Given the description of an element on the screen output the (x, y) to click on. 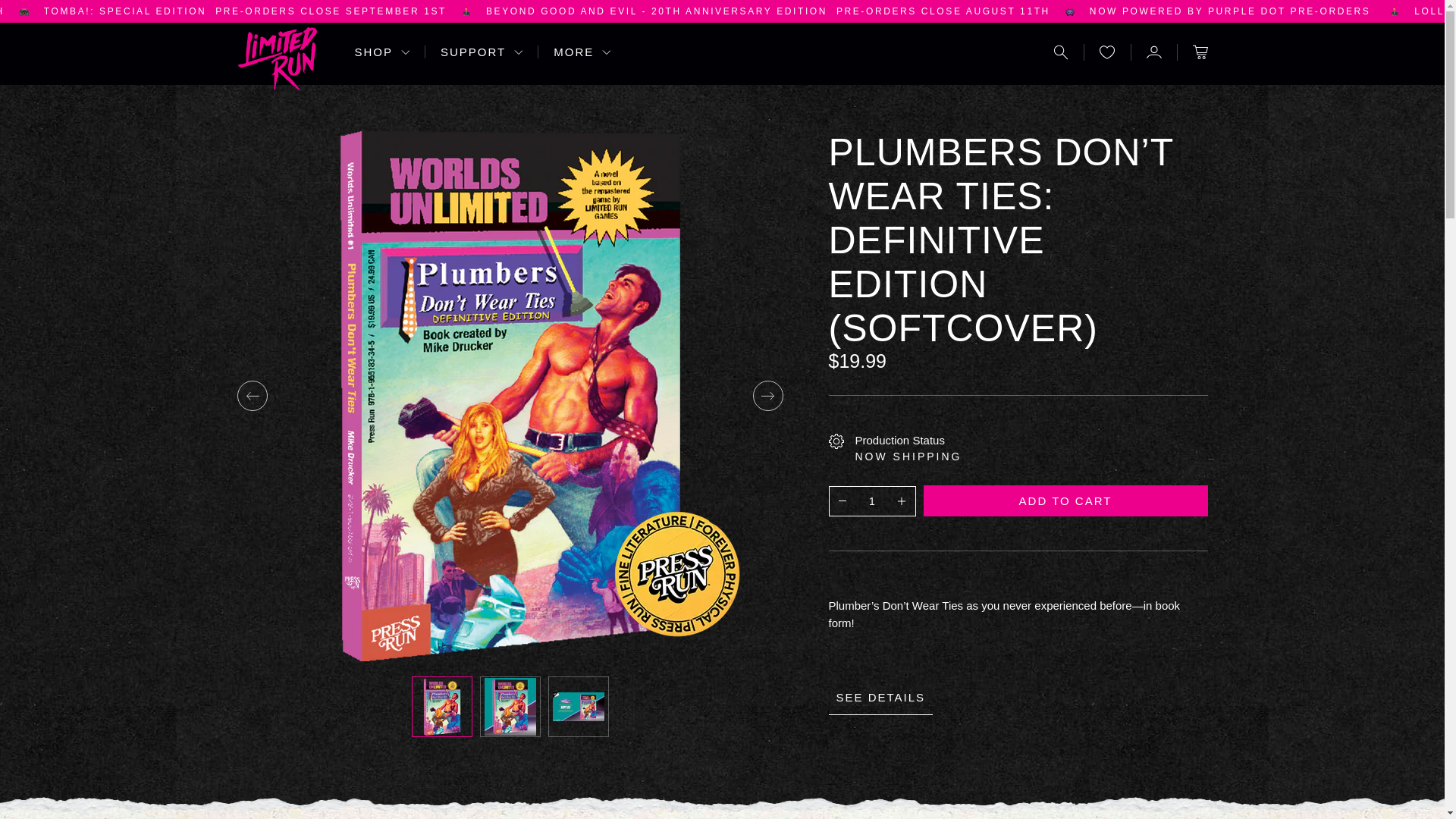
1 (872, 500)
SHOP (244, 10)
